Given the description of an element on the screen output the (x, y) to click on. 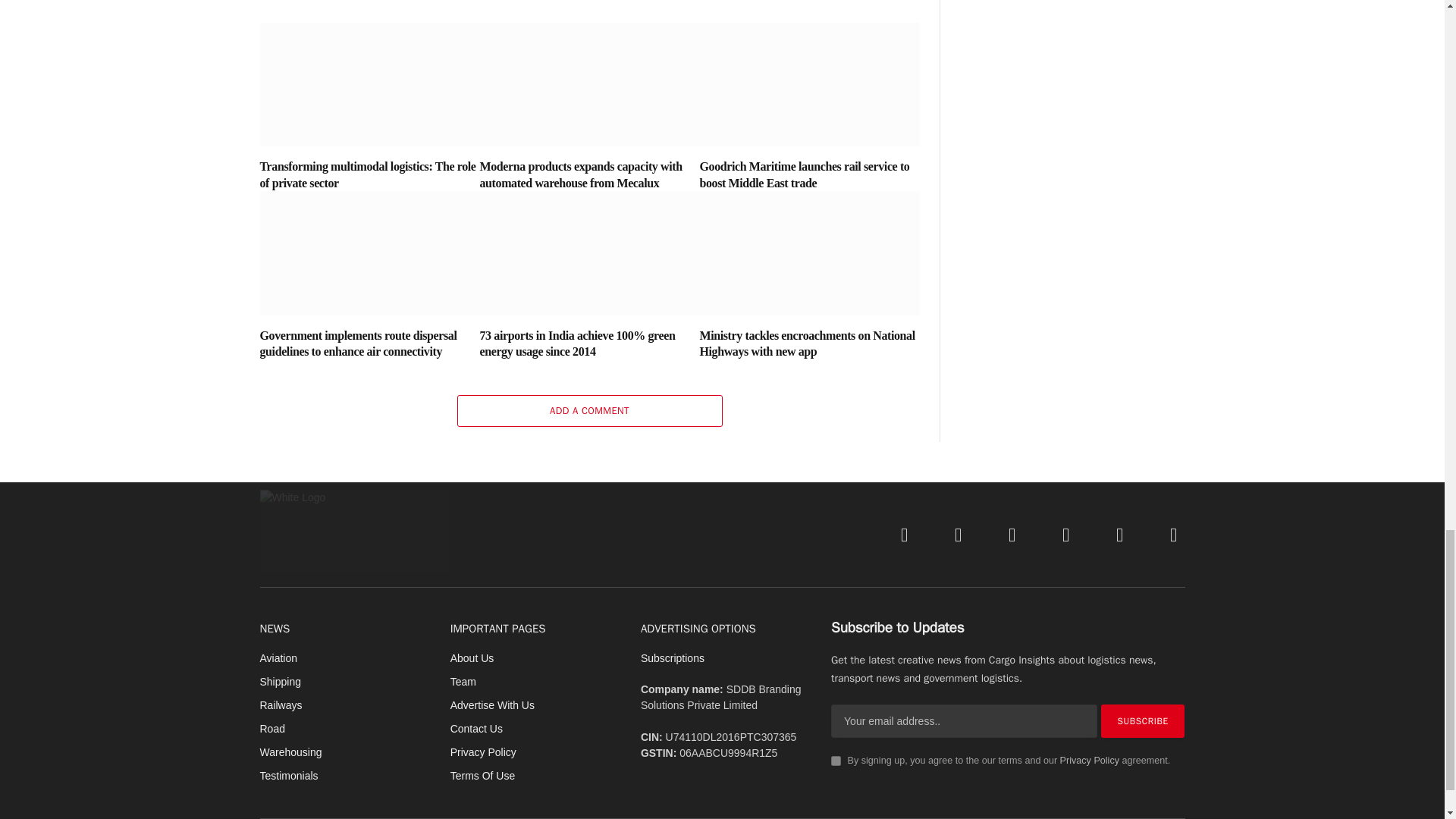
on (836, 760)
Subscribe (1142, 720)
